Given the description of an element on the screen output the (x, y) to click on. 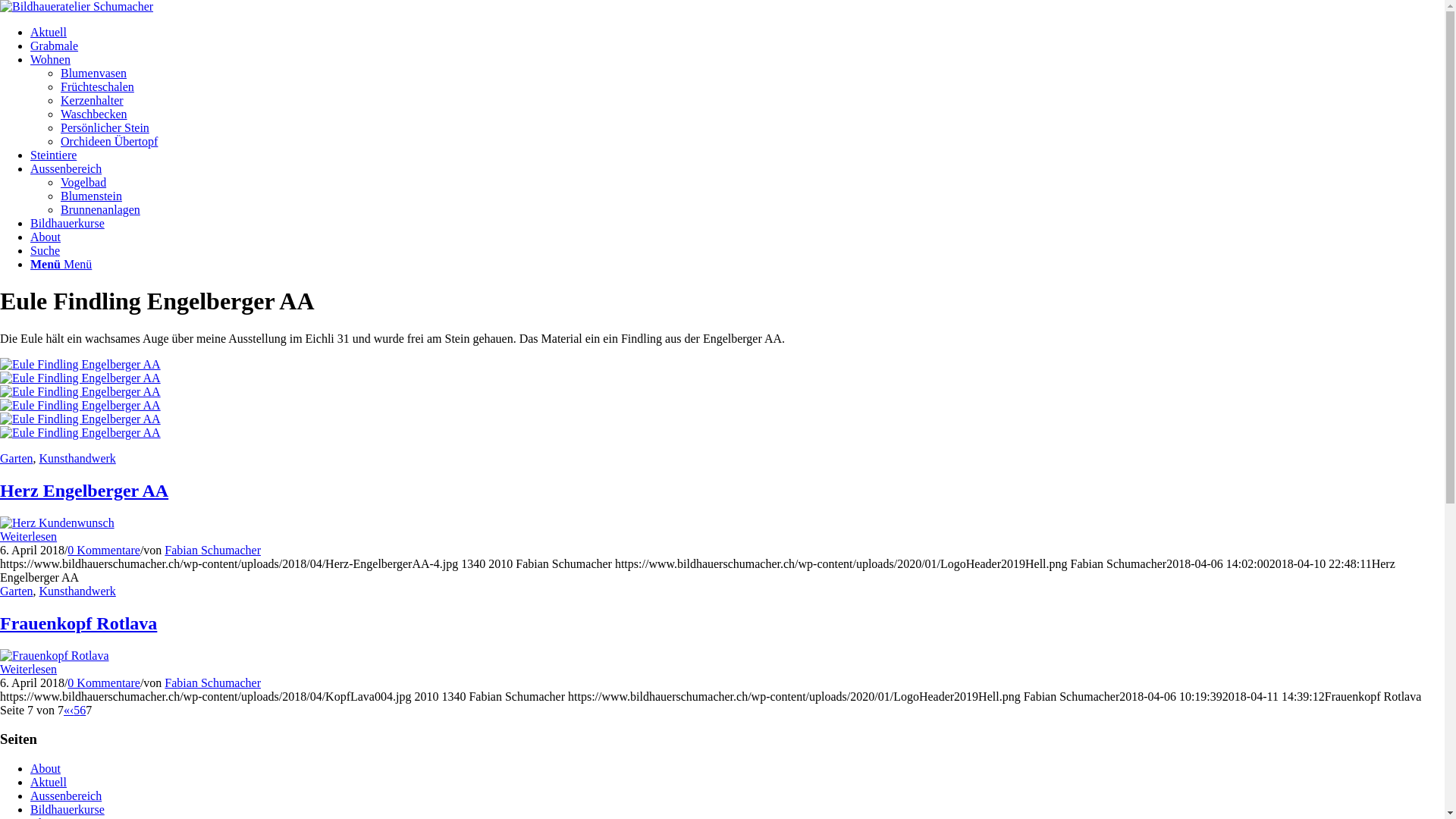
Weiterlesen Element type: text (28, 536)
5 Element type: text (76, 709)
Blumenstein Element type: text (91, 195)
LogoHeader2019Hell Element type: hover (76, 6)
Grabmale Element type: text (54, 45)
About Element type: text (45, 236)
Herz Engelberger AA Element type: text (84, 490)
0 Kommentare Element type: text (103, 682)
Eule007 Element type: hover (80, 405)
Bildhauerkurse Element type: text (67, 222)
Kunsthandwerk Element type: text (77, 457)
Brunnenanlagen Element type: text (100, 209)
Aussenbereich Element type: text (65, 795)
Blumenvasen Element type: text (93, 72)
Eule005 Element type: hover (80, 364)
Fabian Schumacher Element type: text (212, 549)
Kerzenhalter Element type: text (91, 100)
Weiterlesen Element type: text (28, 668)
Frauenkopf Rotlava Element type: text (78, 623)
Garten Element type: text (16, 590)
Eule007 Element type: hover (80, 391)
Aktuell Element type: text (48, 781)
LogoHeader2019Hell Element type: hover (76, 6)
Suche Element type: text (44, 250)
Aussenbereich Element type: text (65, 168)
Vogelbad Element type: text (83, 181)
Eule Findling Engelberger AA Element type: hover (722, 405)
6 Element type: text (82, 709)
Eule004 Element type: hover (80, 419)
About Element type: text (45, 768)
Eule Findling Engelberger AA Element type: hover (722, 377)
Aktuell Element type: text (48, 31)
Steintiere Element type: text (53, 154)
Bildhauerkurse Element type: text (67, 809)
Herz Kundenwunsch Element type: hover (57, 522)
Eule004 Element type: hover (80, 432)
Fabian Schumacher Element type: text (212, 682)
Garten Element type: text (16, 457)
Eule Findling Engelberger AA Element type: hover (722, 425)
Waschbecken Element type: text (93, 113)
Kunsthandwerk Element type: text (77, 590)
Wohnen Element type: text (50, 59)
Eule005 Element type: hover (80, 378)
0 Kommentare Element type: text (103, 549)
Frauenkopf Rotlava Element type: hover (54, 655)
